Given the description of an element on the screen output the (x, y) to click on. 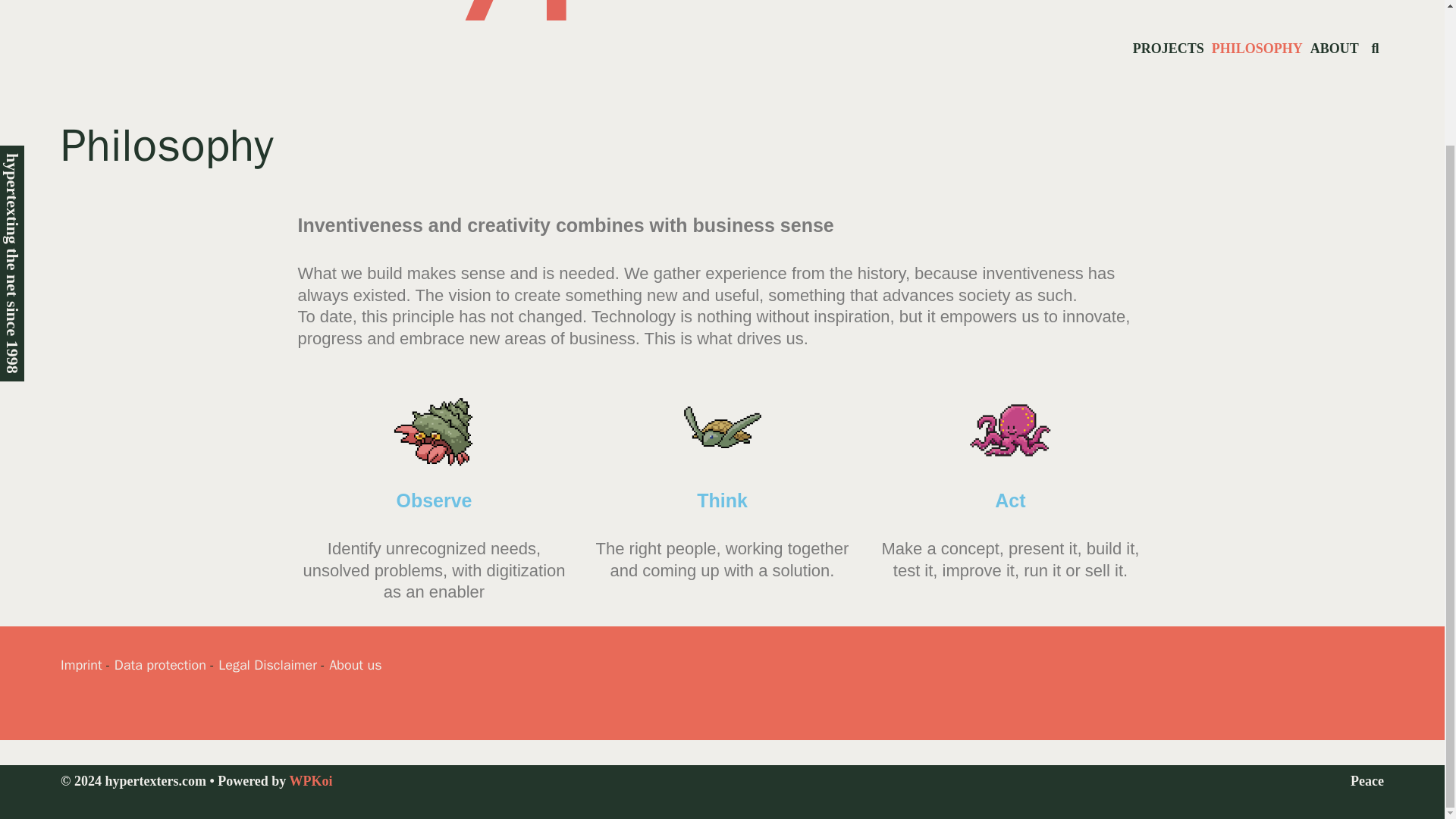
hypertexters.com (724, 11)
PHILOSOPHY (1257, 48)
ABOUT (1334, 48)
Data protection (160, 664)
SEARCH (1374, 48)
Imprint (81, 664)
Legal Disclaimer (267, 664)
About us (355, 664)
PROJECTS (1168, 48)
Search (1374, 48)
WPKoi (311, 780)
